Given the description of an element on the screen output the (x, y) to click on. 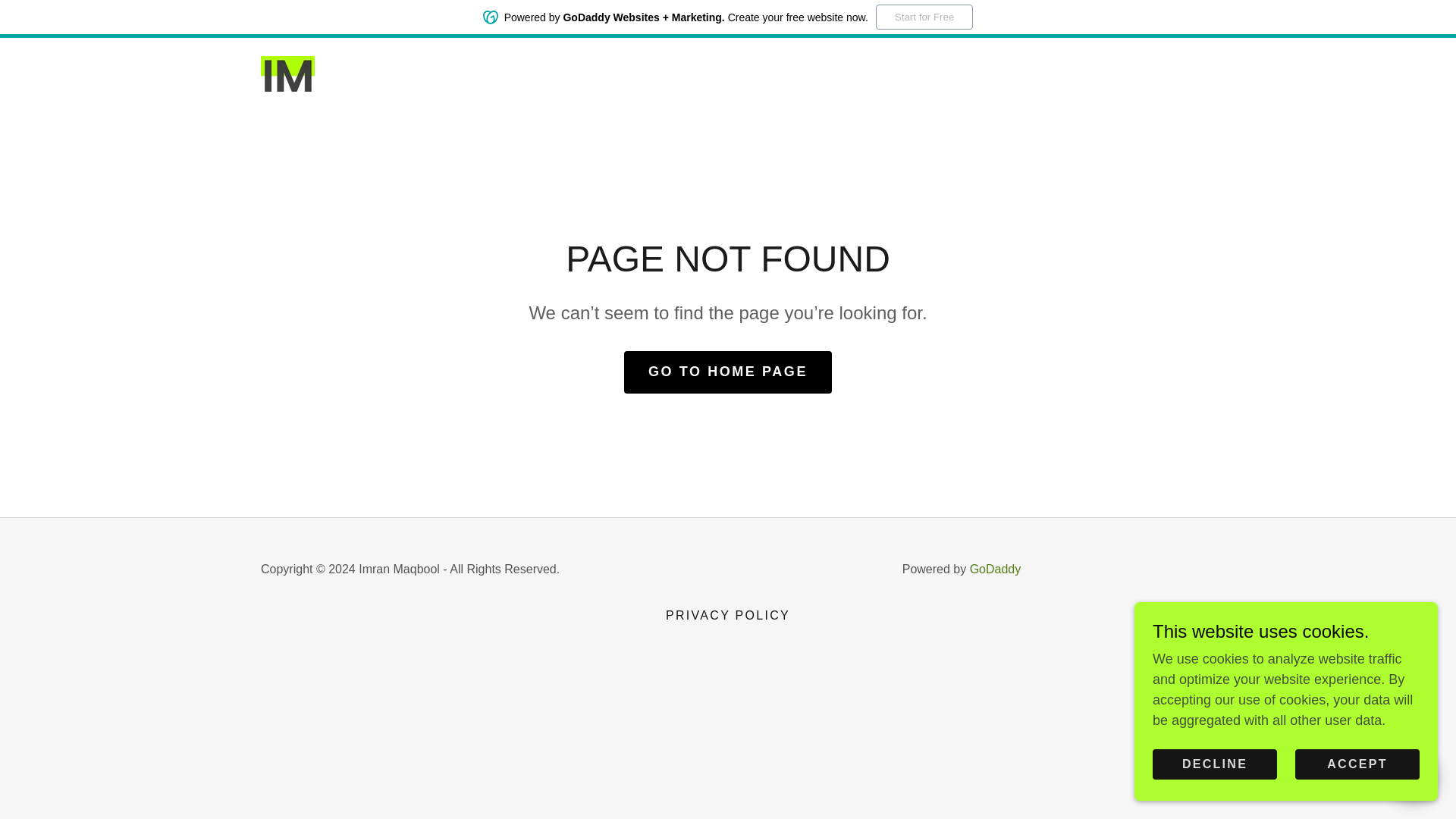
DECLINE (1214, 764)
ACCEPT (1357, 764)
Imran Maqbool (287, 74)
GoDaddy (995, 568)
GO TO HOME PAGE (727, 372)
PRIVACY POLICY (727, 615)
